Given the description of an element on the screen output the (x, y) to click on. 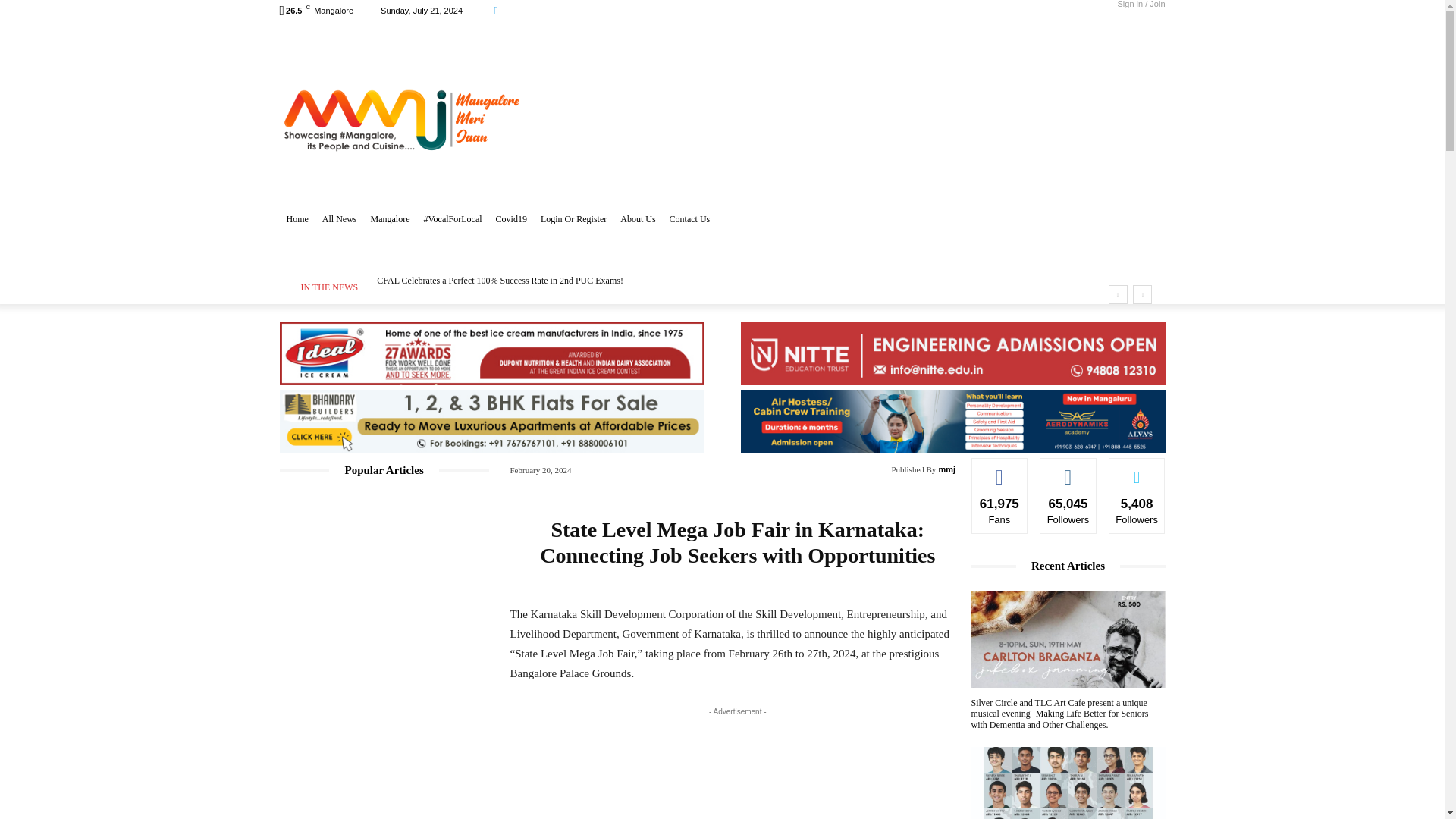
Home (296, 218)
Advertisement (845, 136)
All News (339, 218)
